Given the description of an element on the screen output the (x, y) to click on. 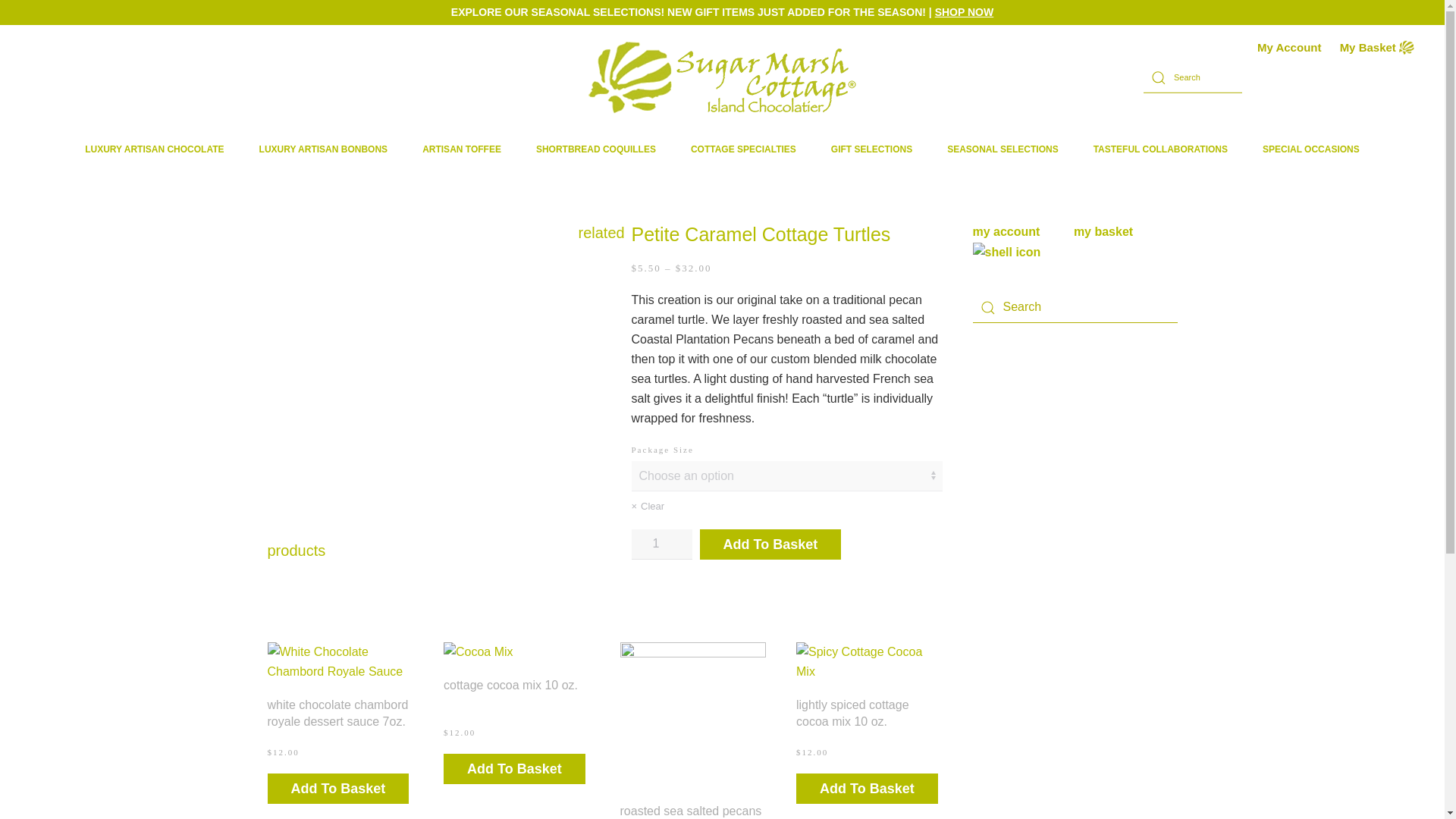
Add To Basket (337, 788)
LUXURY ARTISAN CHOCOLATE (154, 149)
LUXURY ARTISAN BONBONS (323, 149)
ARTISAN TOFFEE (461, 149)
SHOP NOW (964, 11)
Clear (786, 506)
GIFT SELECTIONS (871, 149)
SEASONAL SELECTIONS (1002, 149)
SHORTBREAD COQUILLES (595, 149)
COTTAGE SPECIALTIES (743, 149)
